Given the description of an element on the screen output the (x, y) to click on. 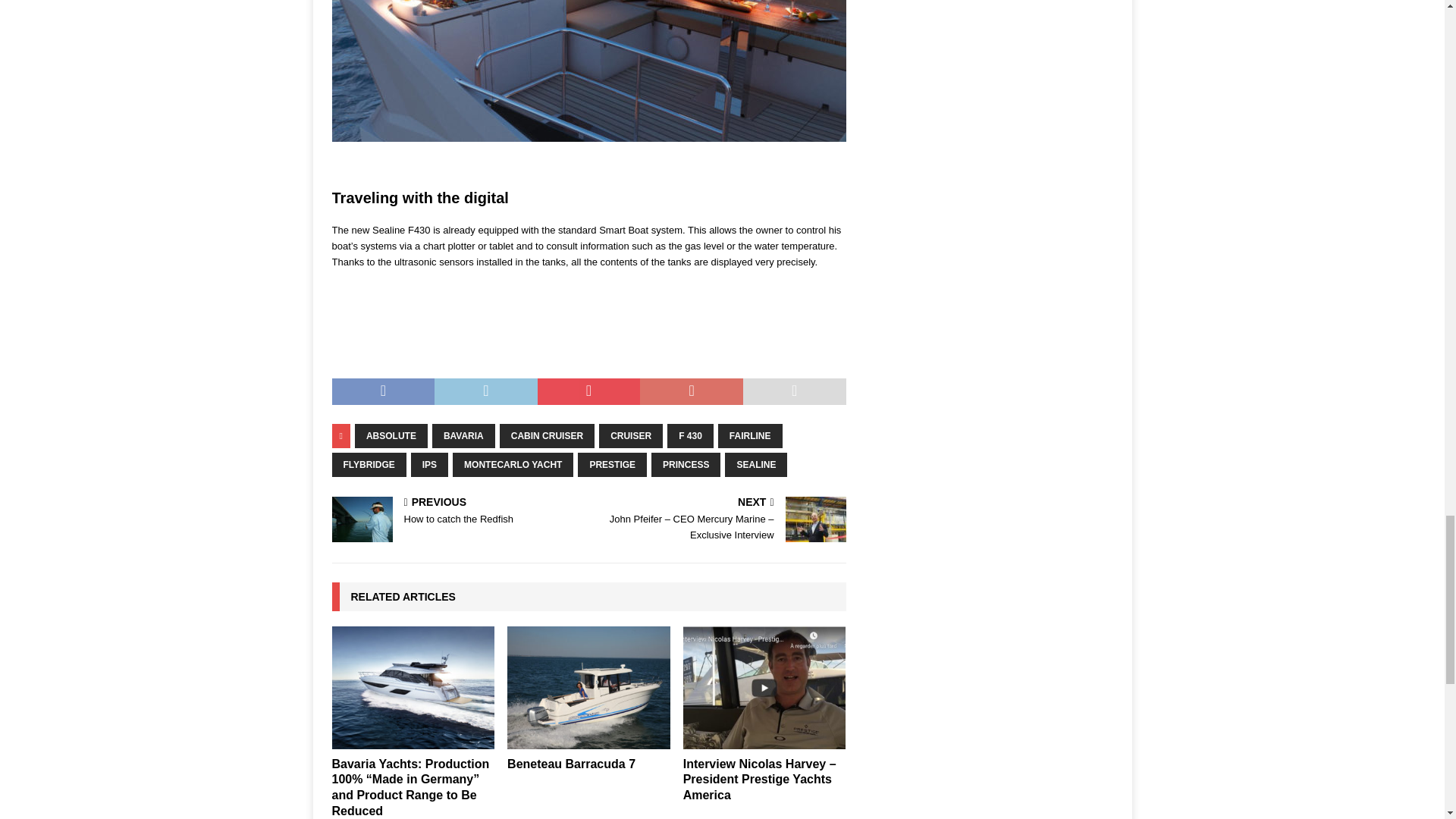
Sealine F 430 Flybridge (588, 70)
